Given the description of an element on the screen output the (x, y) to click on. 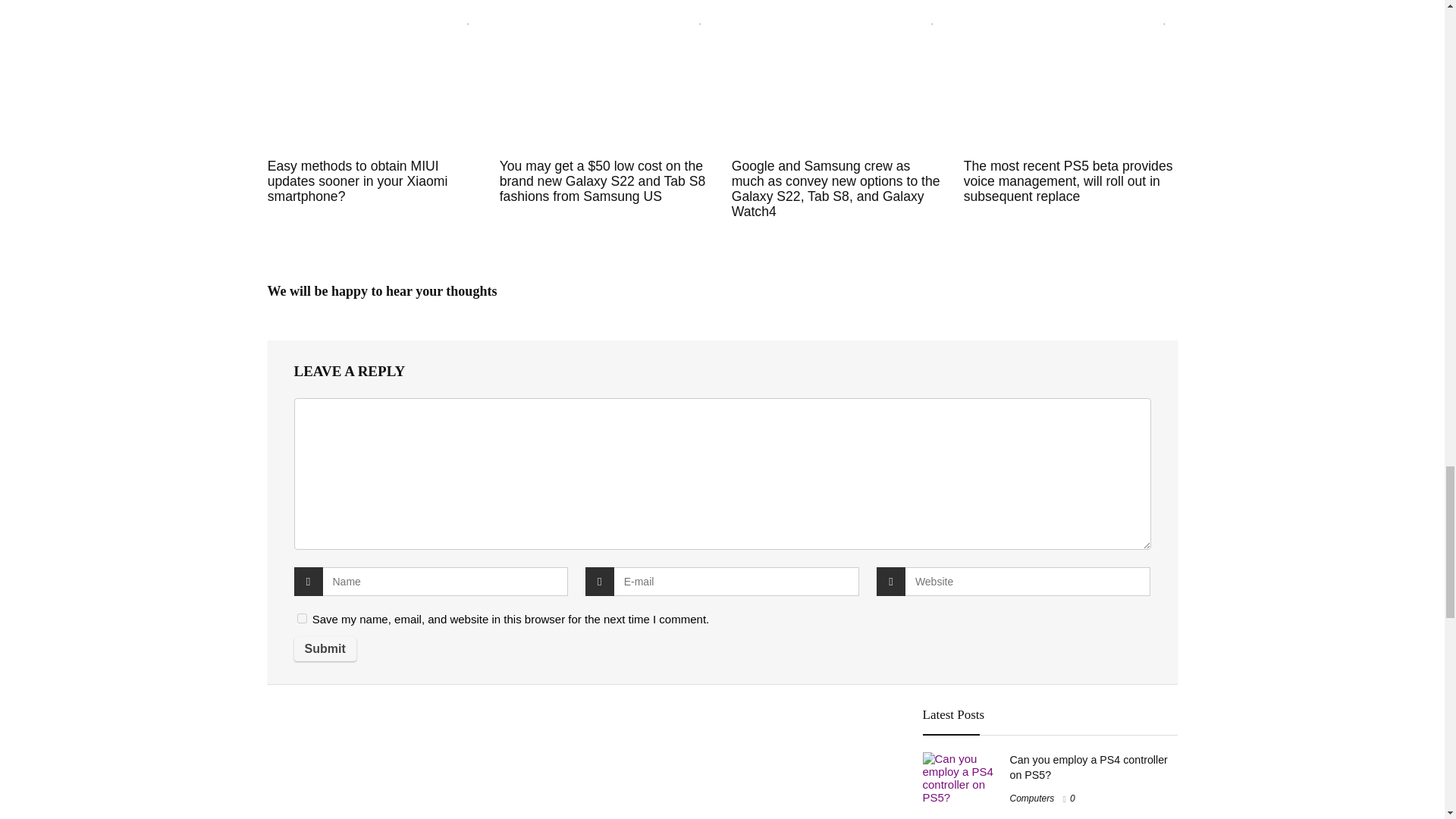
yes (302, 618)
Submit (325, 648)
